Given the description of an element on the screen output the (x, y) to click on. 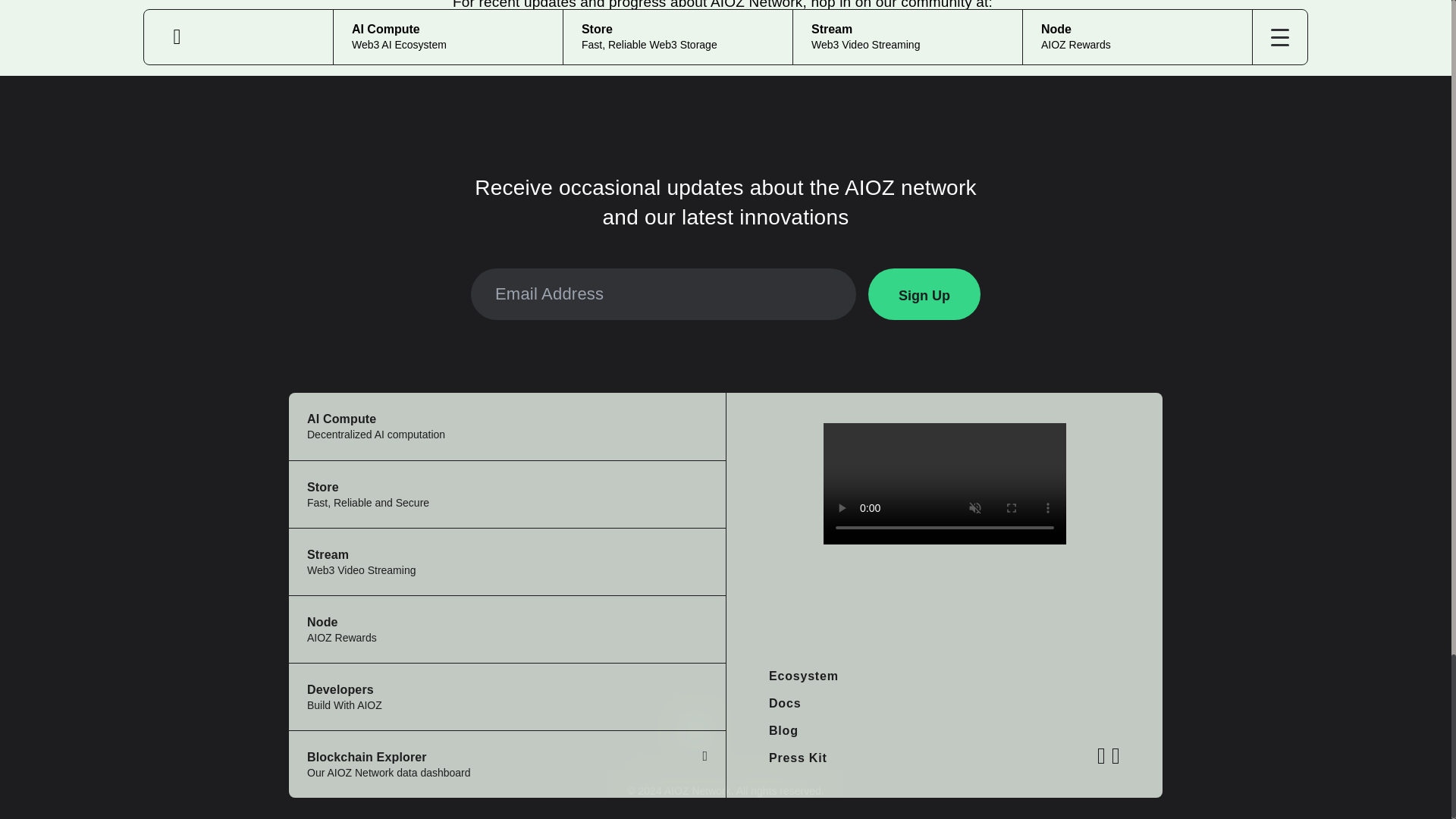
Blog (782, 730)
Ecosystem (506, 763)
Docs (803, 675)
Homepage (784, 703)
Sign Up (506, 493)
Medium (488, 46)
E-mail (923, 294)
Twitter (563, 46)
Telegram (749, 46)
